Given the description of an element on the screen output the (x, y) to click on. 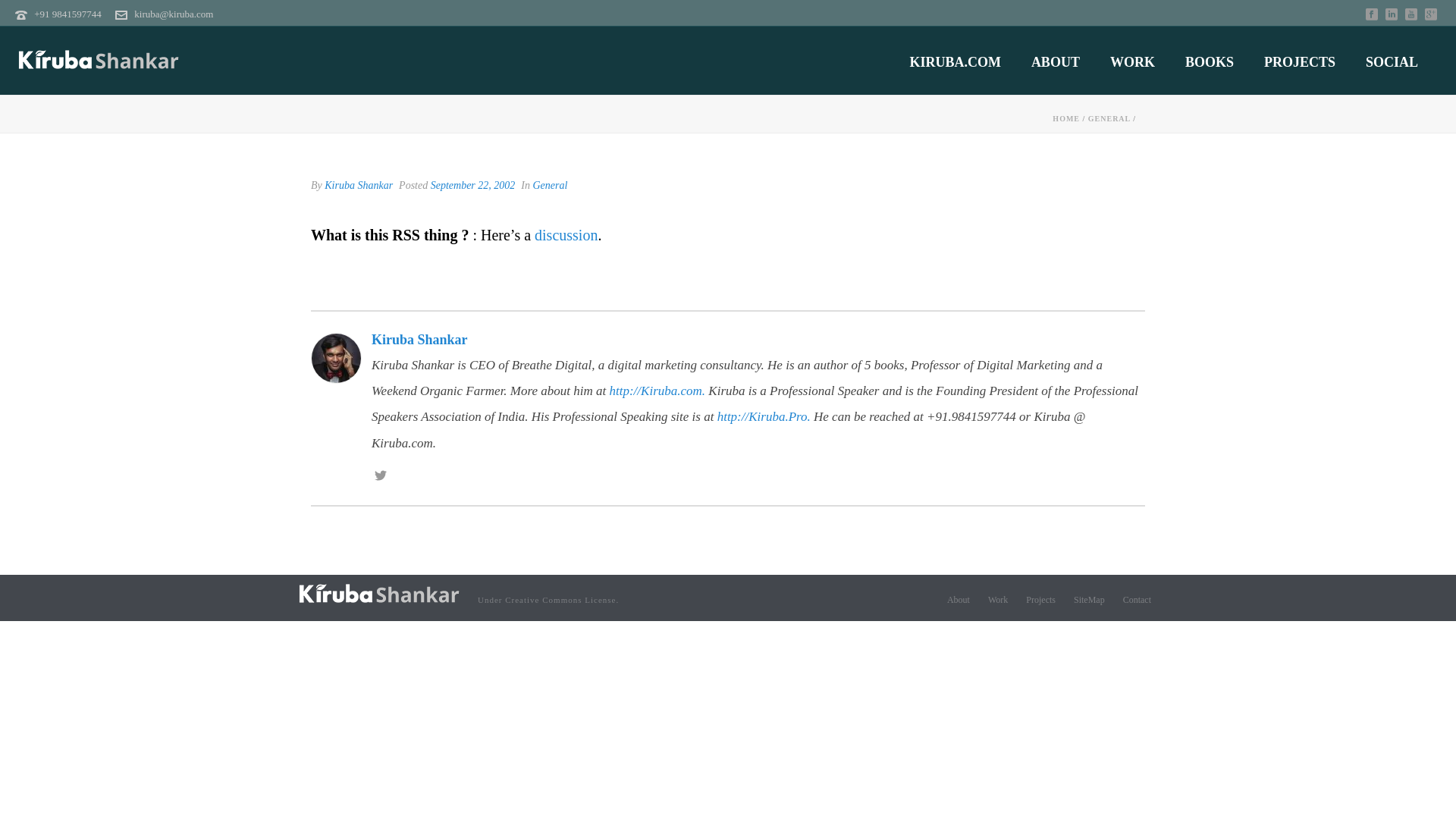
kiruba.com (379, 593)
WORK (1132, 62)
ABOUT (1055, 62)
Follow me on Twitter (380, 476)
SOCIAL (1391, 62)
ABOUT (1055, 62)
KIRUBA.COM (954, 62)
PROJECTS (1300, 62)
The Personal Website of Kiruba Shankar (98, 60)
WORK (1132, 62)
BOOKS (1209, 62)
PROJECTS (1300, 62)
Posts by Kiruba Shankar (358, 184)
BOOKS (1209, 62)
KIRUBA.COM (954, 62)
